Given the description of an element on the screen output the (x, y) to click on. 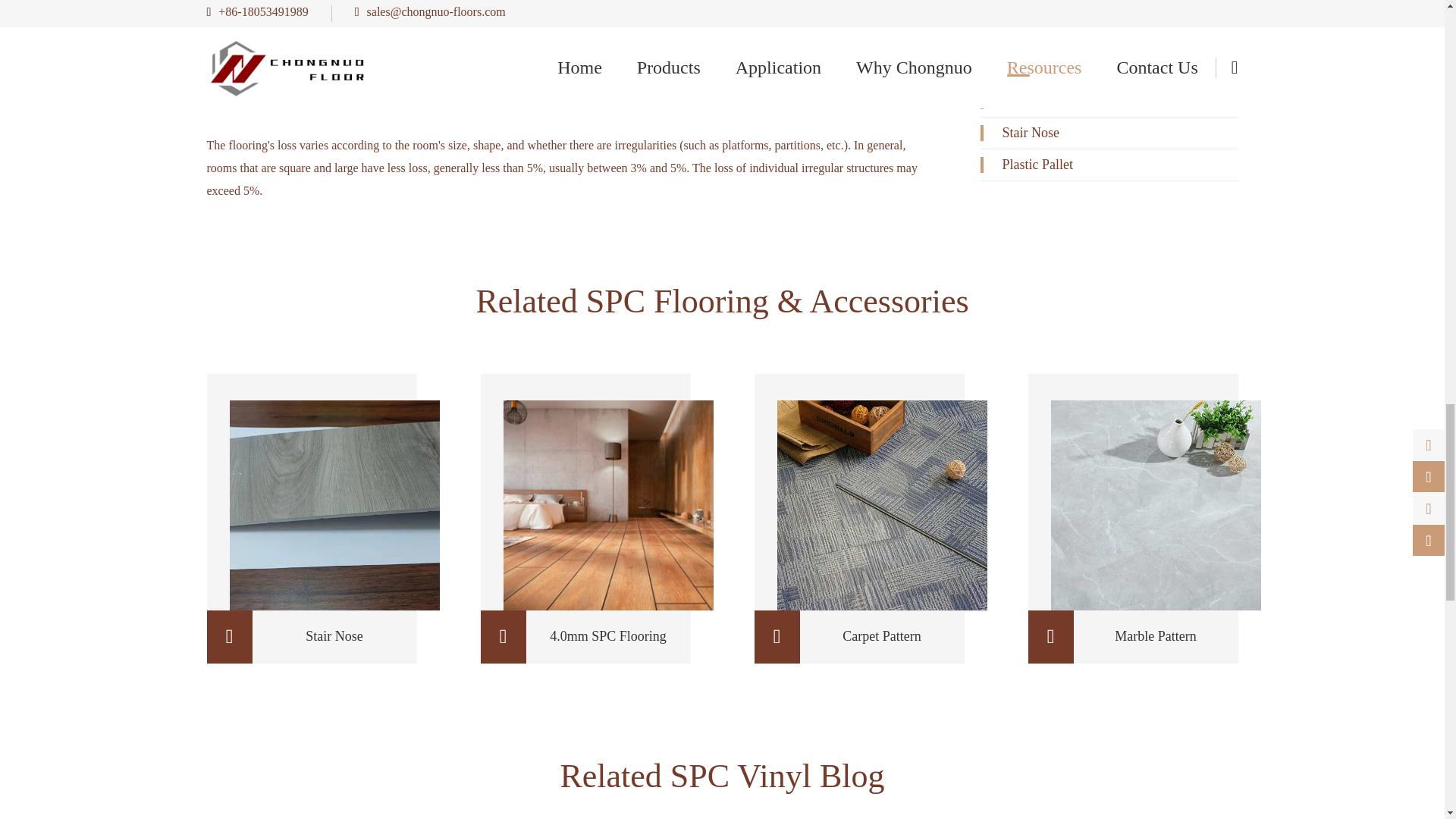
SPC Carpet Flooring (881, 505)
SPC Stair Nose (333, 505)
4.0mm SPC Flooring (608, 505)
Marble Pattern SPC Flooring (1155, 505)
